Given the description of an element on the screen output the (x, y) to click on. 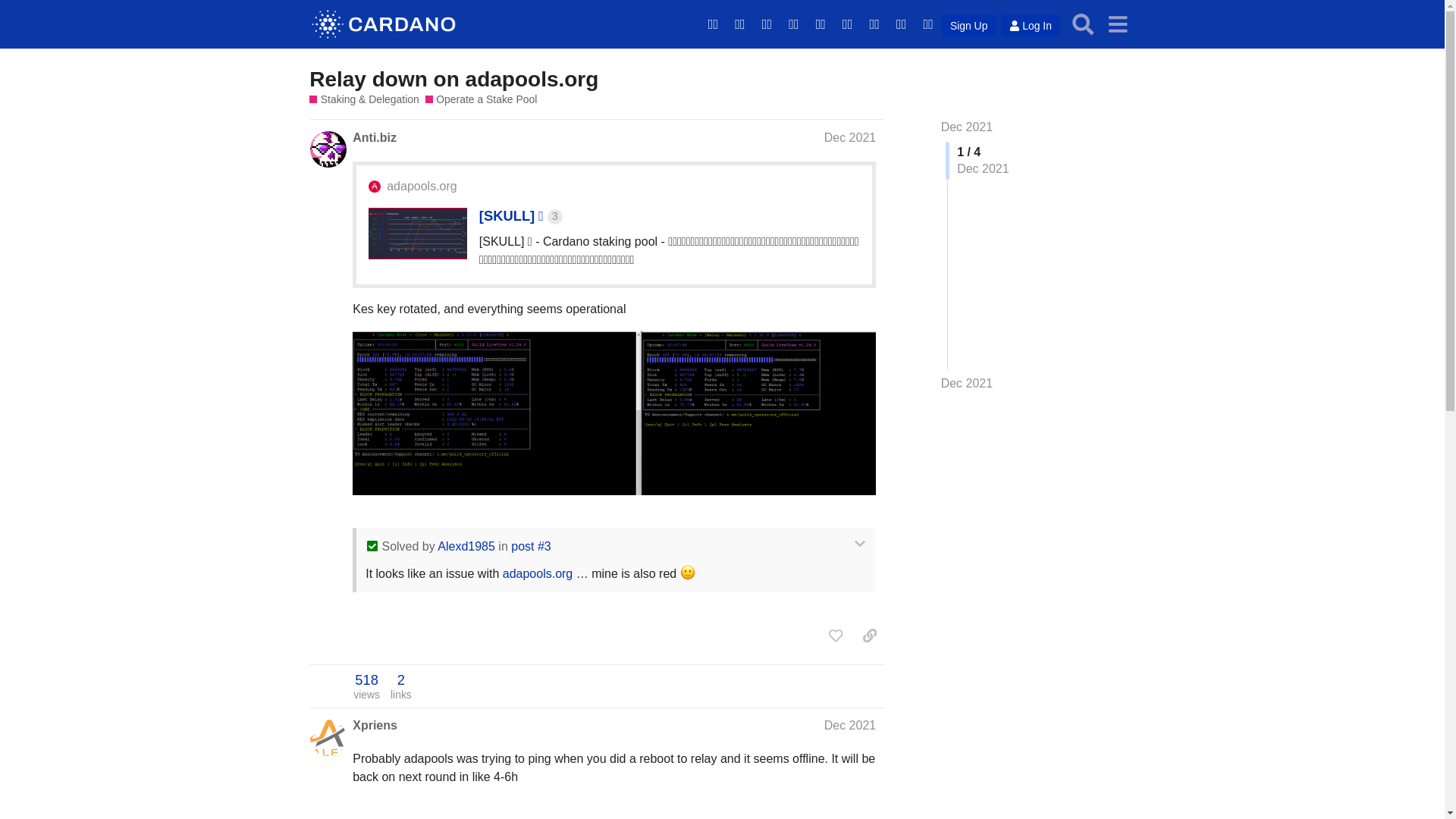
Alexd1985 (466, 545)
Dec 2021 (966, 126)
Sign Up (968, 25)
adapools.org (422, 186)
Post date (850, 137)
menu (1117, 23)
Dec 2021 (850, 137)
Deutsch (739, 23)
Jump to the last post (966, 382)
Xpriens (374, 725)
